Given the description of an element on the screen output the (x, y) to click on. 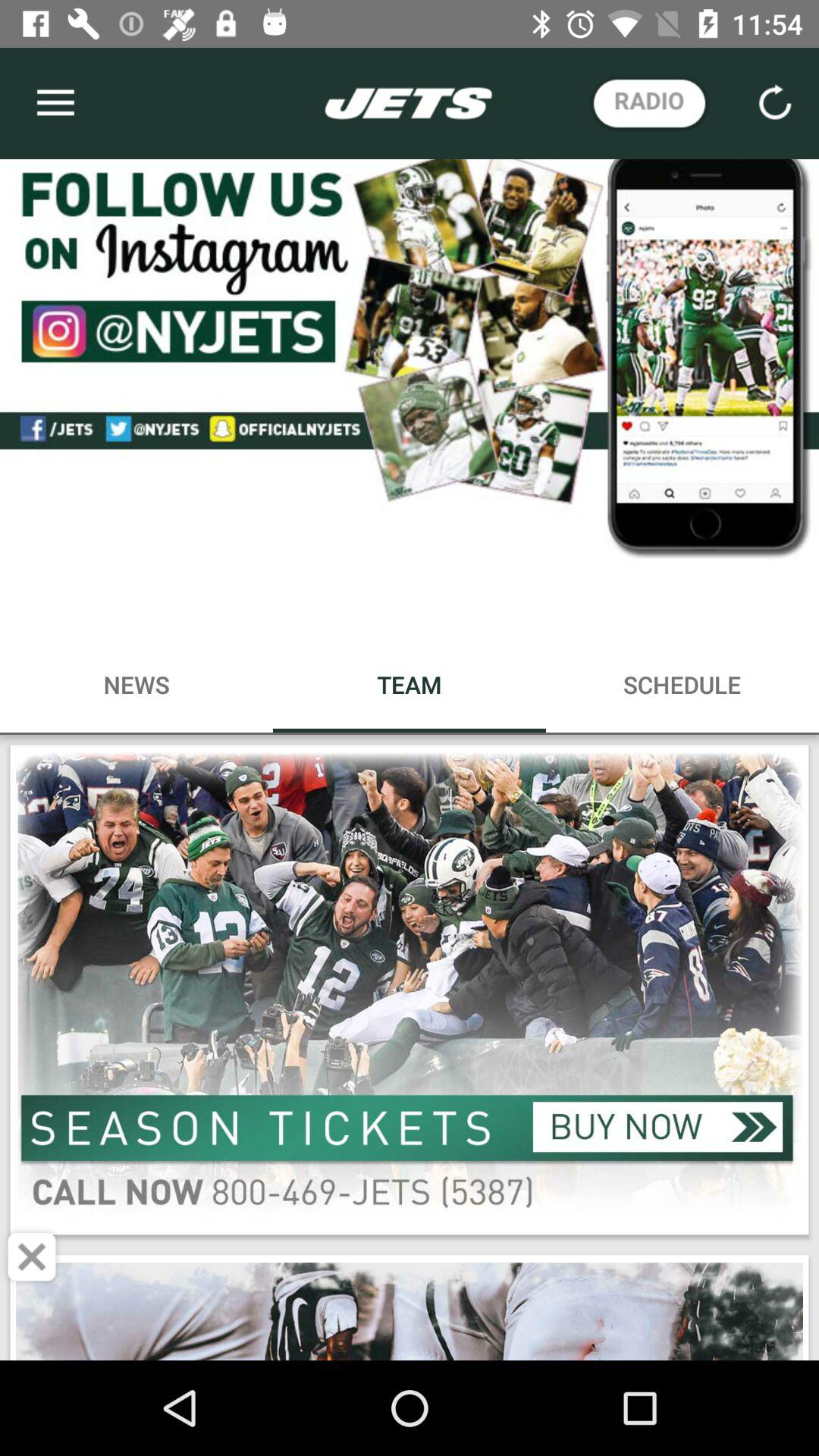
select the tittle text (408, 103)
click on radio button at top right (649, 103)
no bounding box on web page (409, 684)
select the tab schedule on the web page (682, 684)
